Given the description of an element on the screen output the (x, y) to click on. 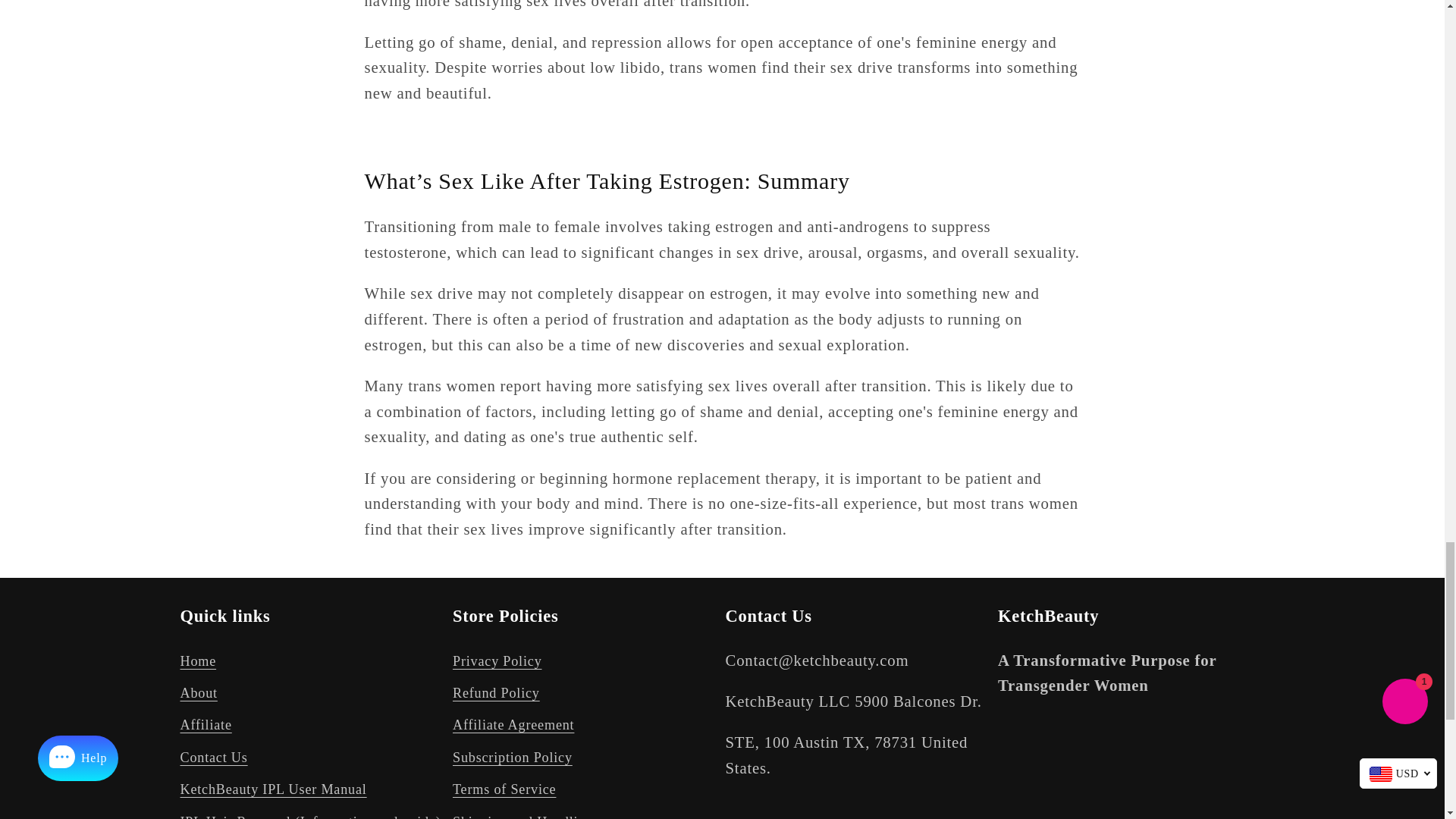
Privacy Policy (496, 664)
Home (198, 664)
Contact Us (213, 757)
Affiliate (205, 726)
About (198, 694)
Refund Policy (496, 694)
KetchBeauty IPL User Manual (273, 789)
Affiliate Agreement (512, 726)
